Given the description of an element on the screen output the (x, y) to click on. 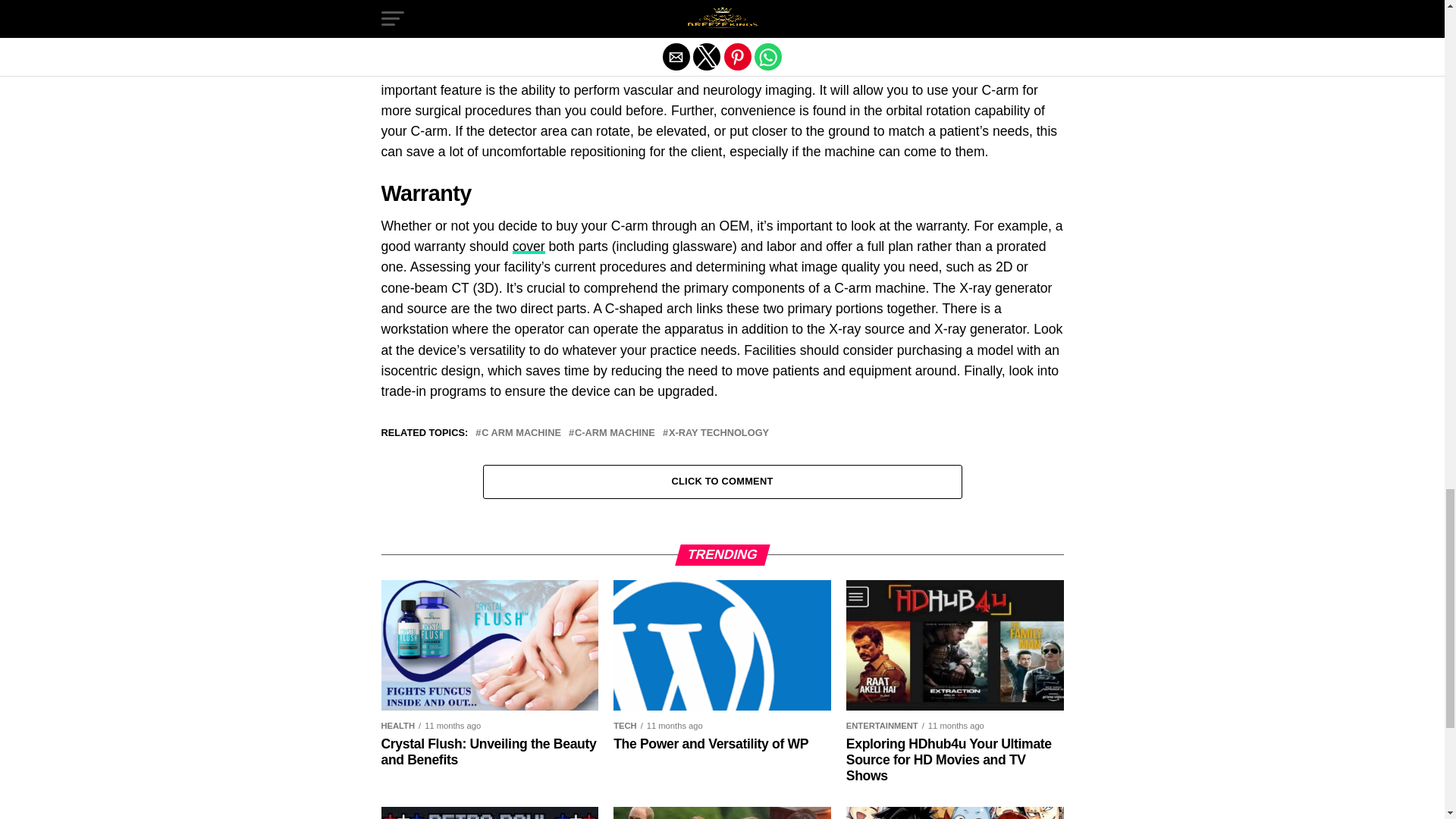
cover (528, 246)
X-RAY TECHNOLOGY (718, 433)
C ARM MACHINE (520, 433)
C-ARM MACHINE (615, 433)
PACS system (1011, 7)
